Given the description of an element on the screen output the (x, y) to click on. 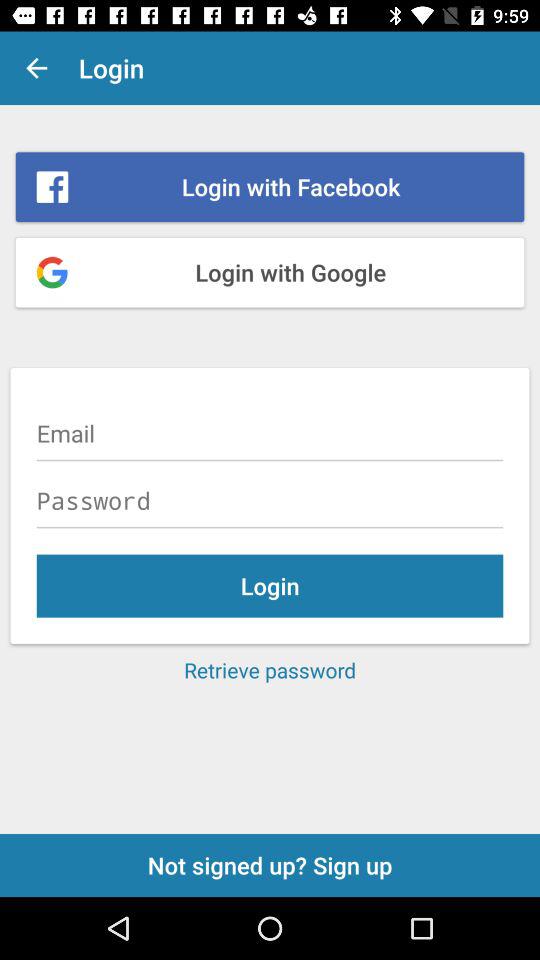
open the item above the not signed up icon (269, 669)
